Given the description of an element on the screen output the (x, y) to click on. 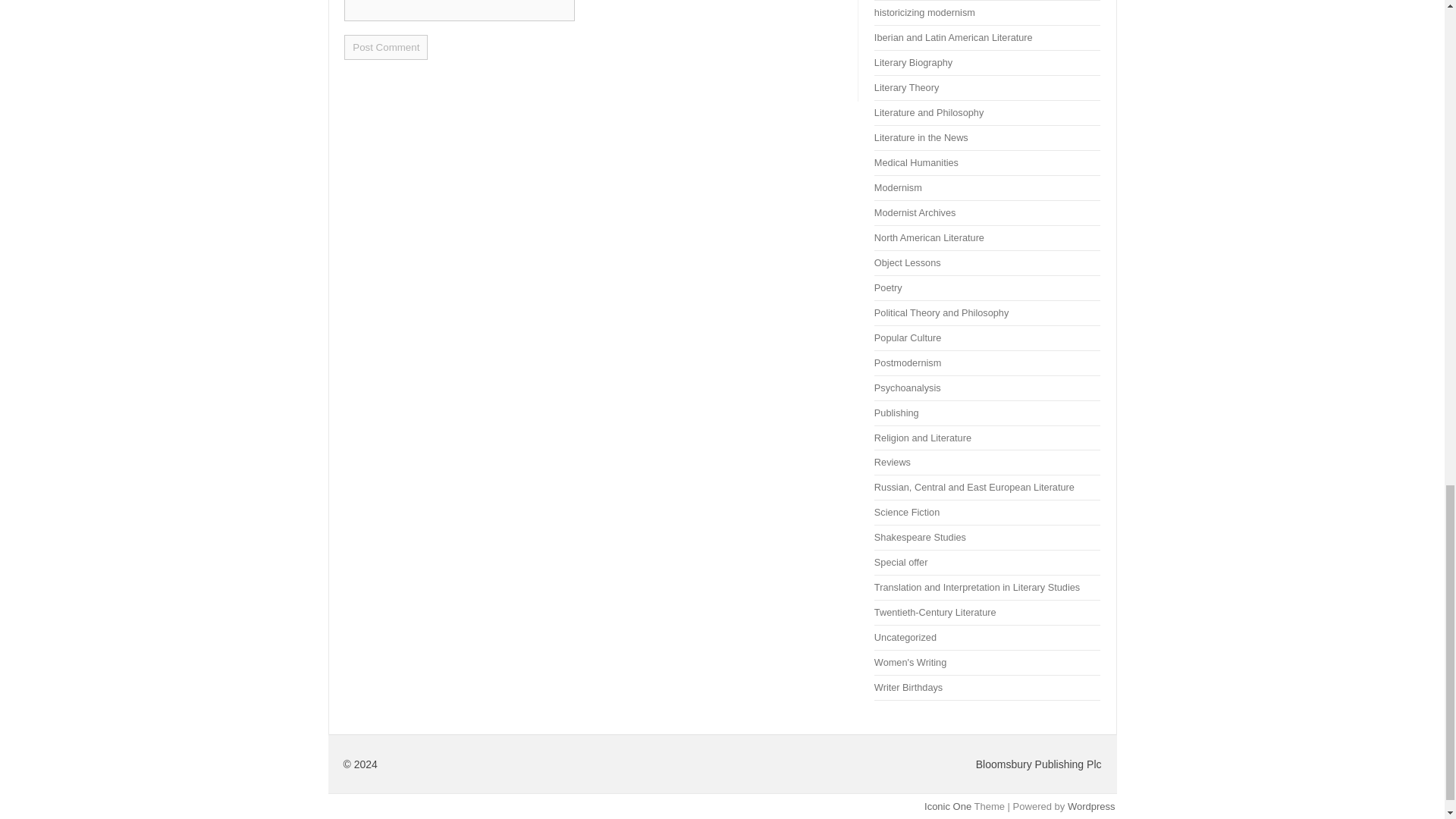
Post Comment (385, 47)
Post Comment (385, 47)
